Given the description of an element on the screen output the (x, y) to click on. 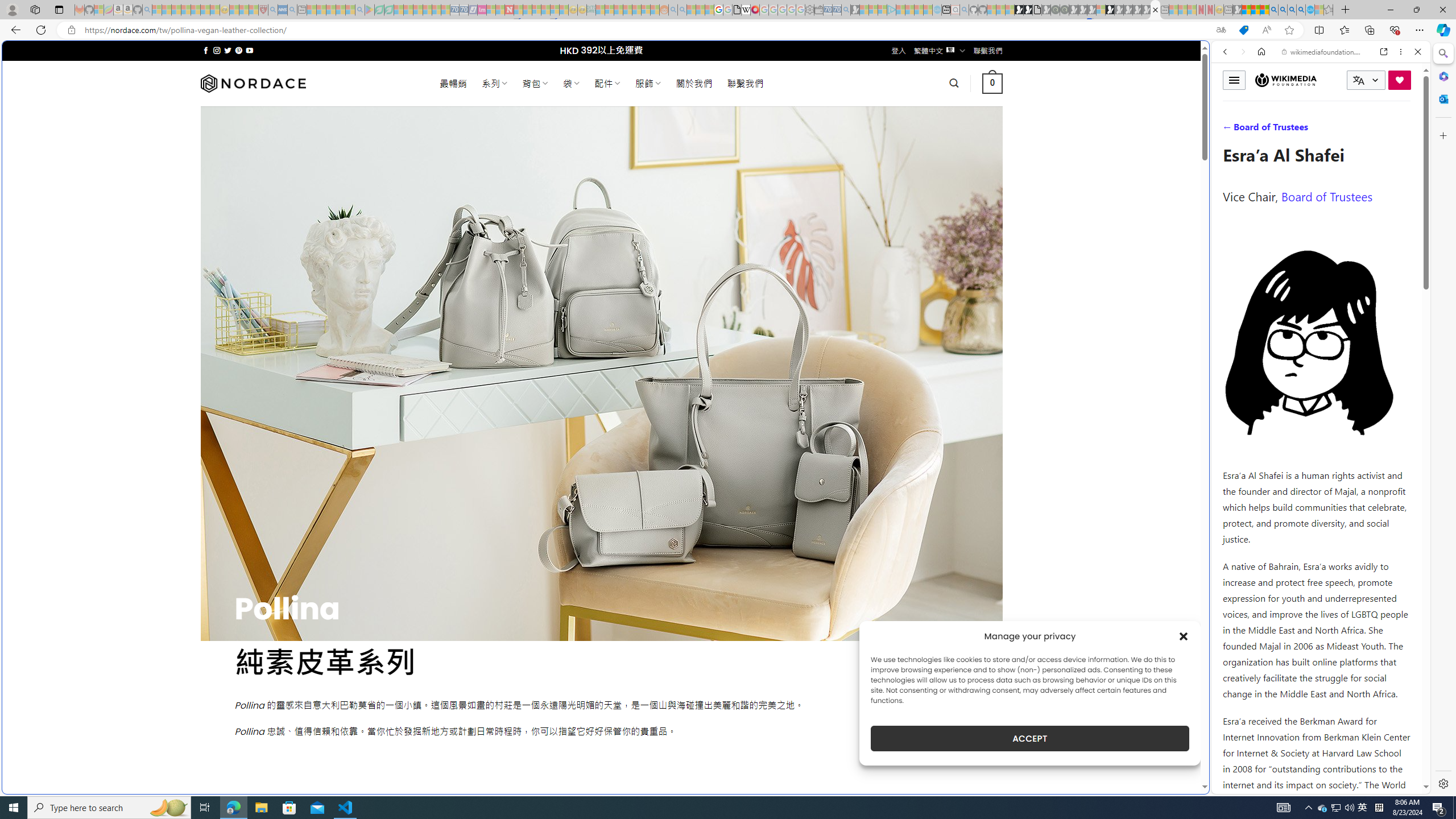
MediaWiki (754, 9)
Class: i icon icon-translate language-switcher__icon (1358, 80)
